Given the description of an element on the screen output the (x, y) to click on. 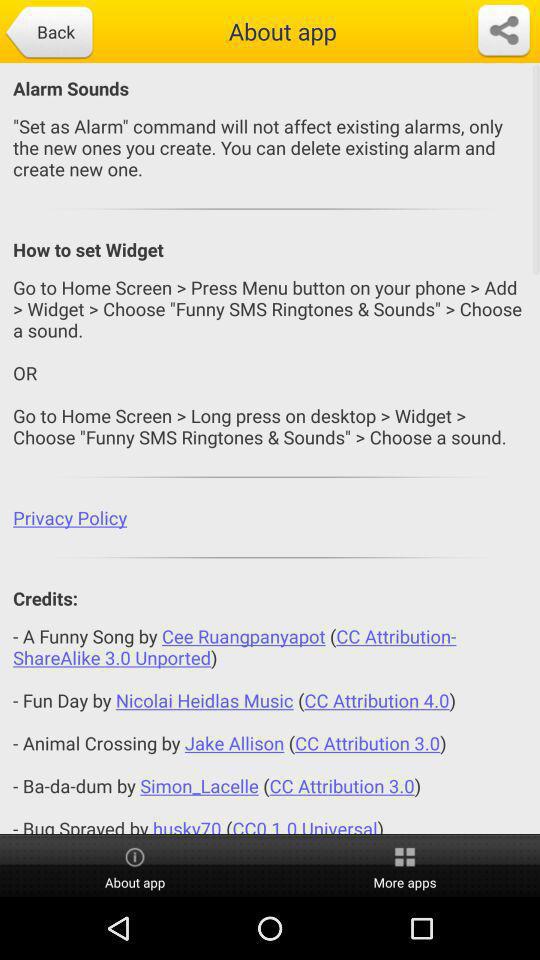
share this app (503, 31)
